Given the description of an element on the screen output the (x, y) to click on. 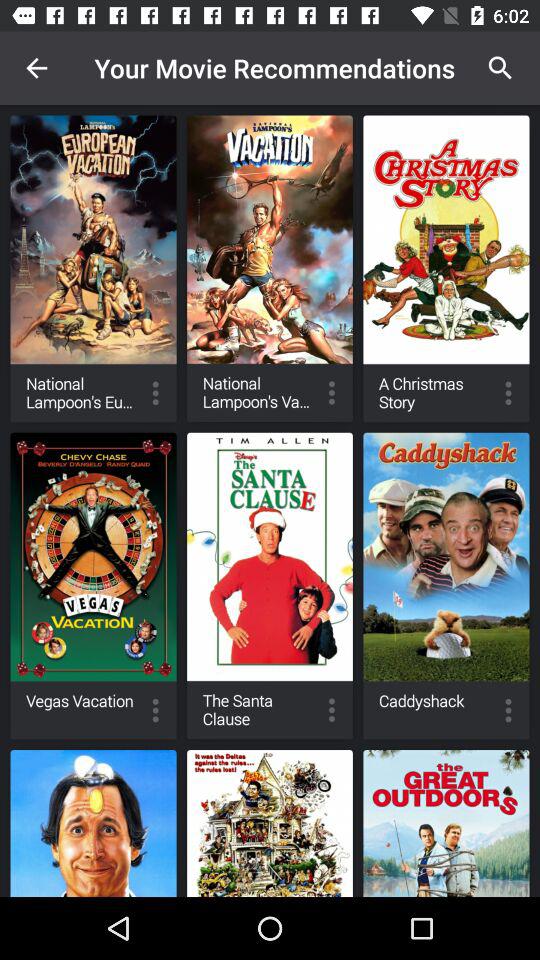
open icon to the right of the your movie recommendations icon (500, 67)
